Given the description of an element on the screen output the (x, y) to click on. 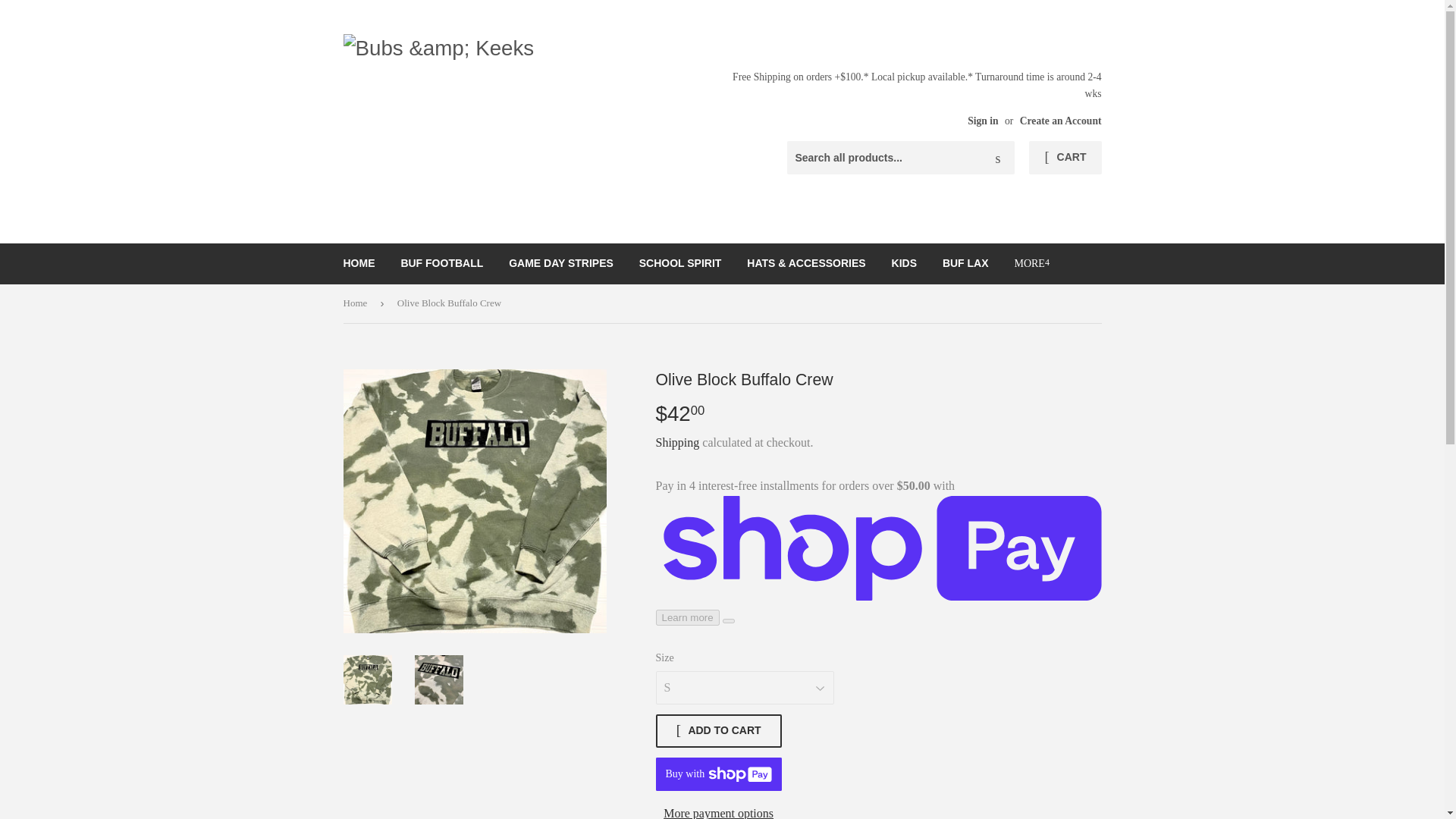
KIDS (904, 262)
SCHOOL SPIRIT (680, 262)
MORE (1031, 263)
BUF LAX (965, 262)
HOME (359, 262)
Create an Account (1061, 120)
Sign in (982, 120)
BUF FOOTBALL (441, 262)
Search (996, 158)
GAME DAY STRIPES (560, 262)
CART (1064, 157)
